Given the description of an element on the screen output the (x, y) to click on. 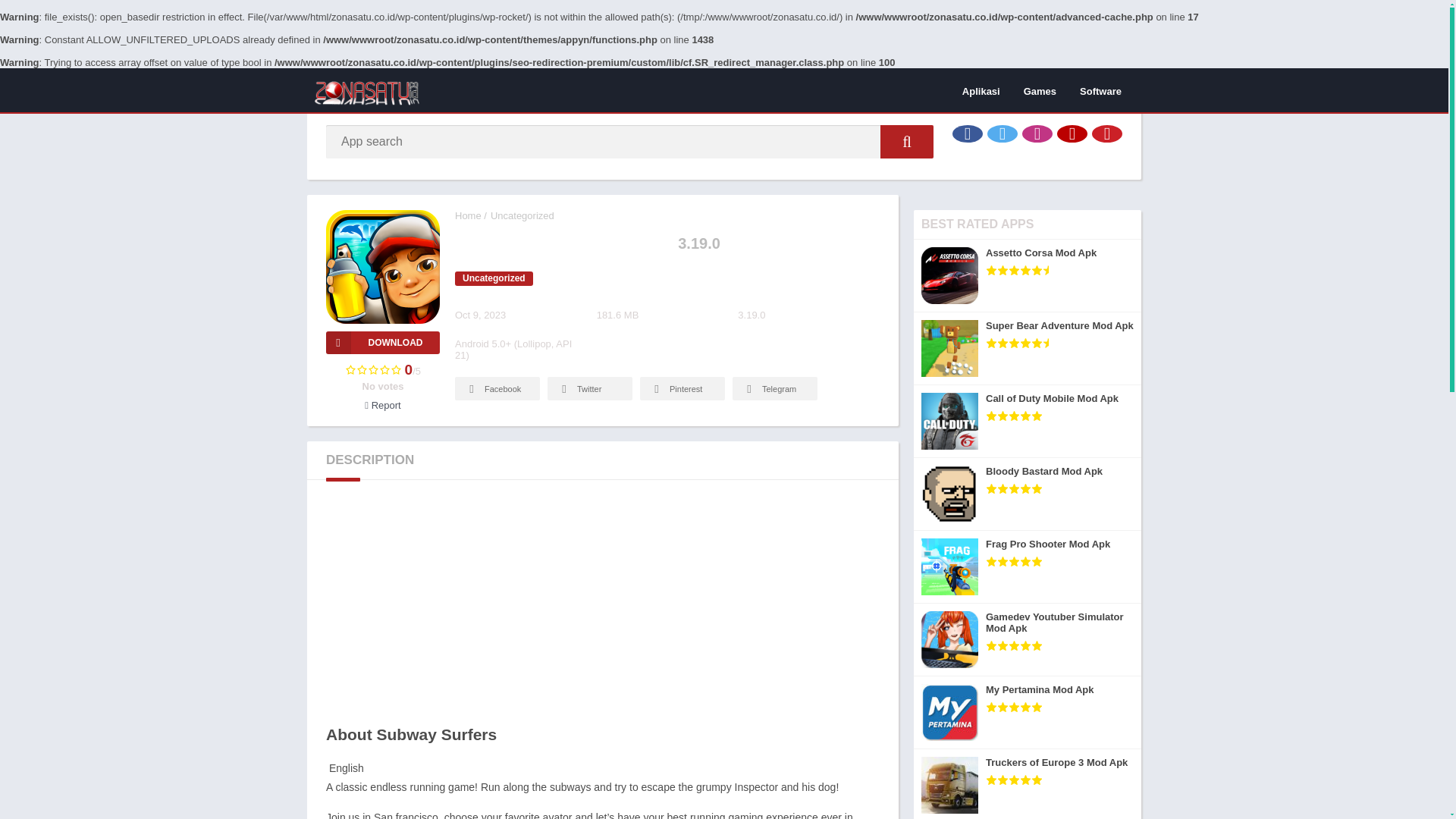
Telegram (774, 388)
Call of Duty Mobile Mod Apk (1027, 420)
Facebook (497, 388)
Facebook (967, 133)
Games (1039, 90)
Pinterest (682, 388)
Uncategorized (522, 215)
Software (1100, 90)
Instagram (1037, 133)
Assetto Corsa Mod Apk (1027, 275)
Download (382, 342)
Super Bear Adventure Mod Apk (1027, 348)
DOWNLOAD (382, 342)
Frag Pro Shooter Mod Apk (1027, 566)
ZonaSatu.co.id (467, 215)
